Given the description of an element on the screen output the (x, y) to click on. 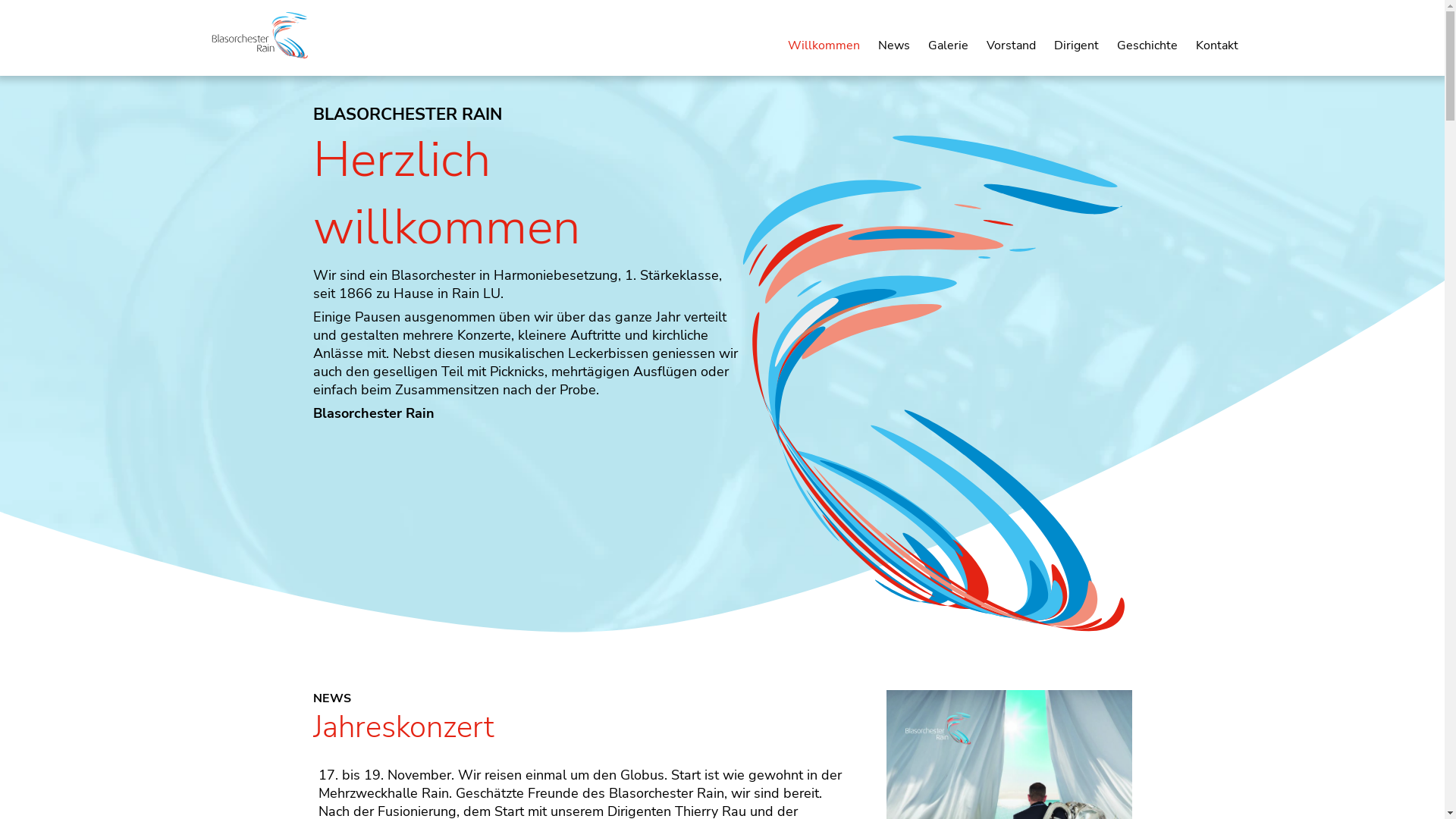
News Element type: text (894, 45)
Dirigent Element type: text (1076, 45)
NEWS Element type: text (331, 698)
Willkommen Element type: text (823, 45)
Galerie Element type: text (948, 45)
Kontakt Element type: text (1216, 45)
Vorstand Element type: text (1010, 45)
Geschichte Element type: text (1146, 45)
